Given the description of an element on the screen output the (x, y) to click on. 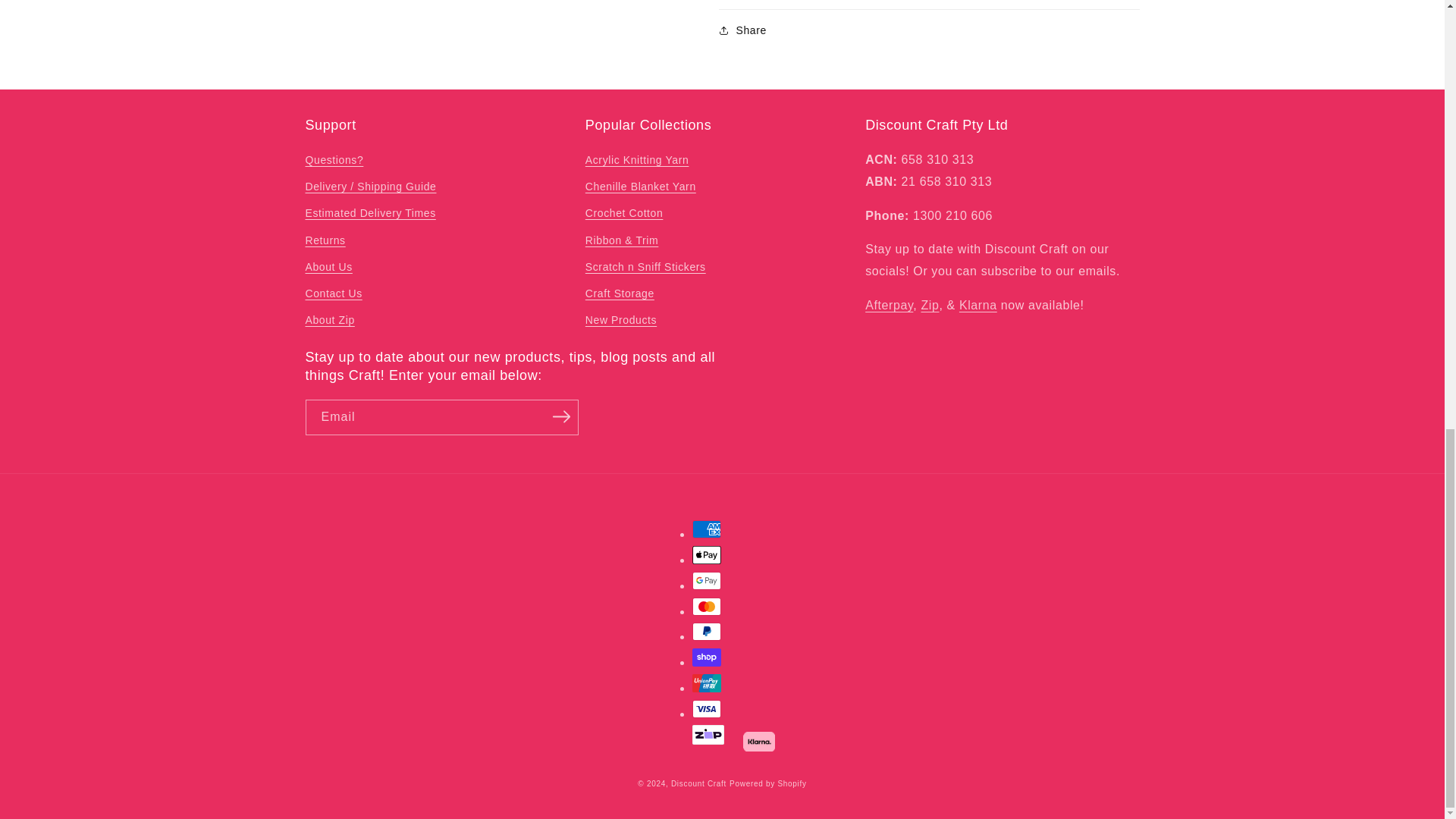
Klarna (978, 305)
American Express (706, 529)
Returns (324, 240)
Questions? (333, 161)
Zip - Own it now, pay later (929, 305)
Afterpay (888, 305)
Estimated Delivery Times (369, 212)
